Given the description of an element on the screen output the (x, y) to click on. 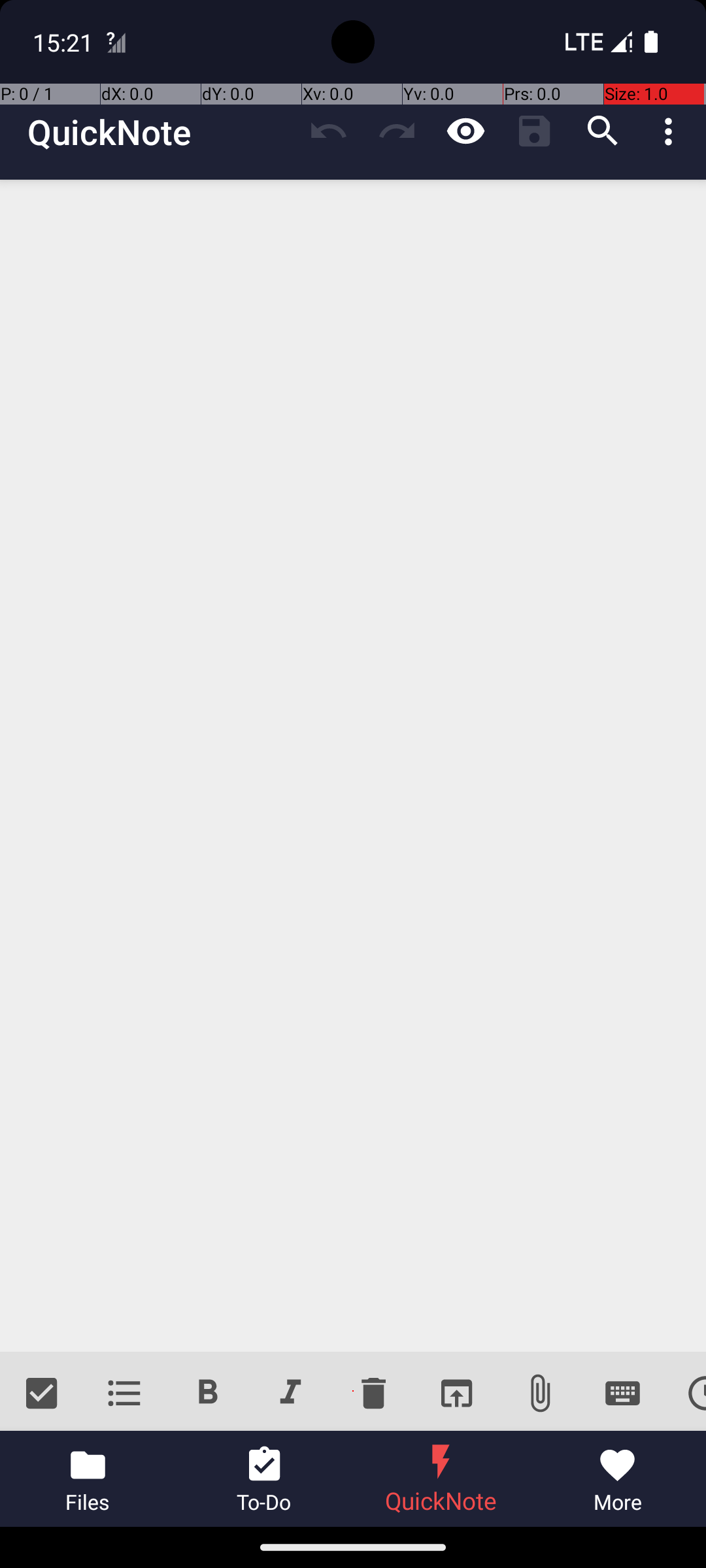
15:21 Element type: android.widget.TextView (64, 41)
